Given the description of an element on the screen output the (x, y) to click on. 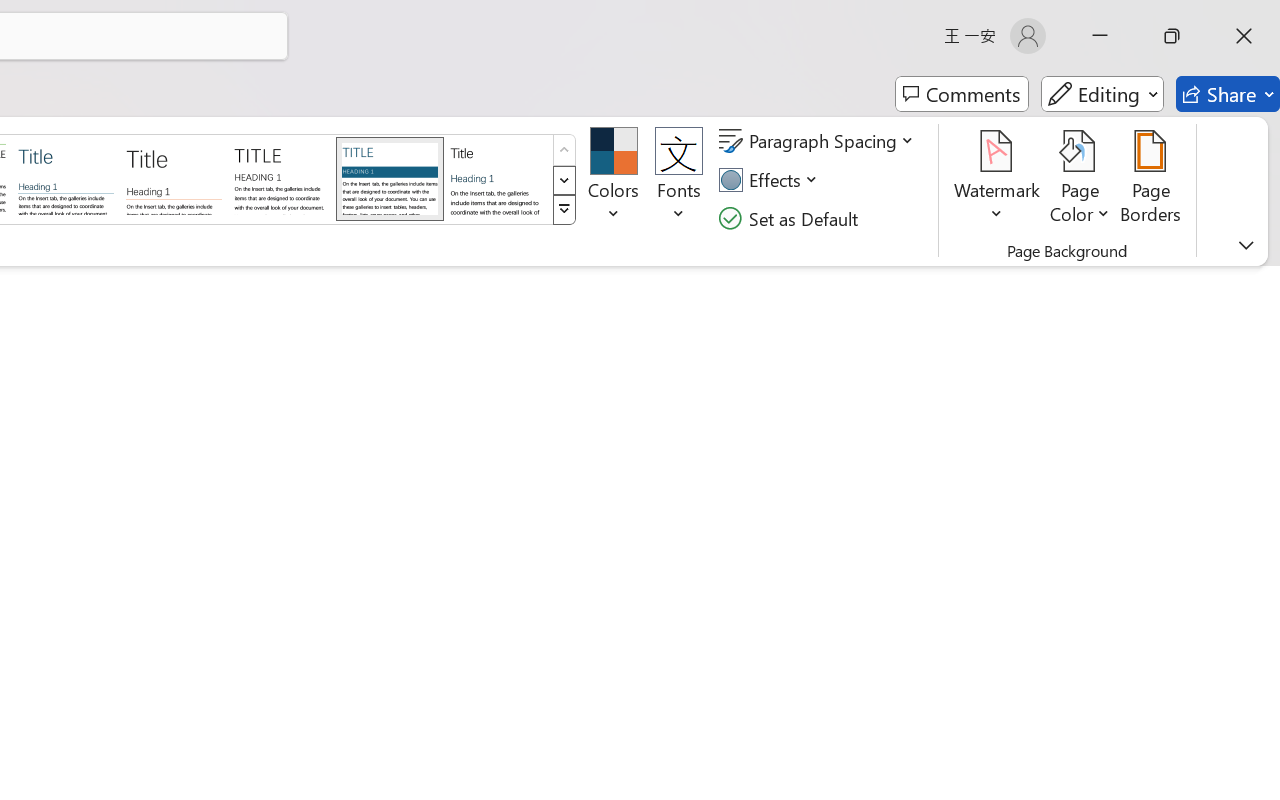
Row up (564, 150)
Page Borders... (1151, 179)
Word (497, 178)
Share (1228, 94)
Page Color (1080, 179)
Comments (961, 94)
Minimalist (281, 178)
Ribbon Display Options (1246, 245)
Watermark (997, 179)
